Given the description of an element on the screen output the (x, y) to click on. 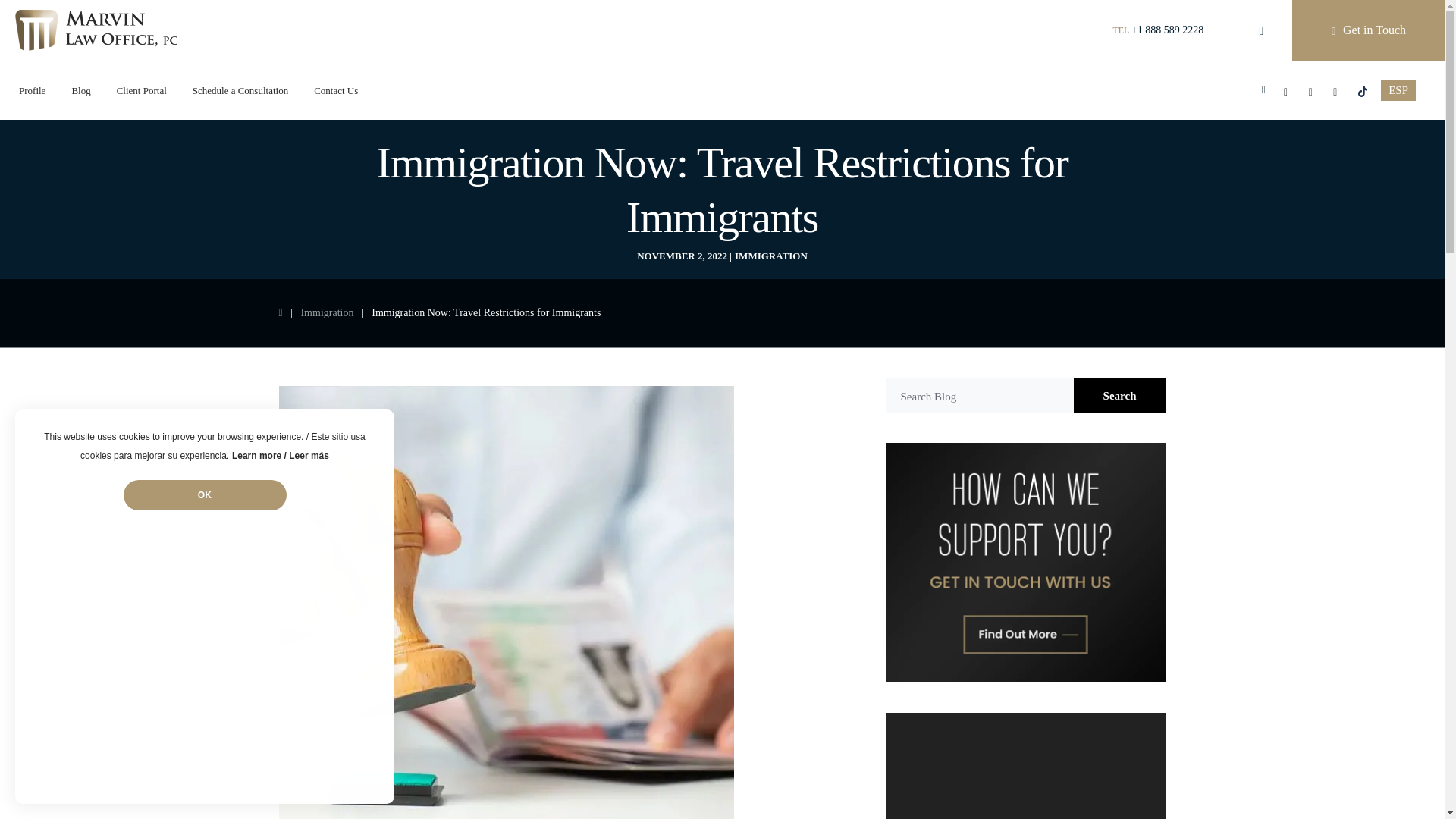
Client Portal (141, 90)
Find Out More (1025, 562)
ESP (1397, 90)
Schedule a Consultation (240, 90)
